Given the description of an element on the screen output the (x, y) to click on. 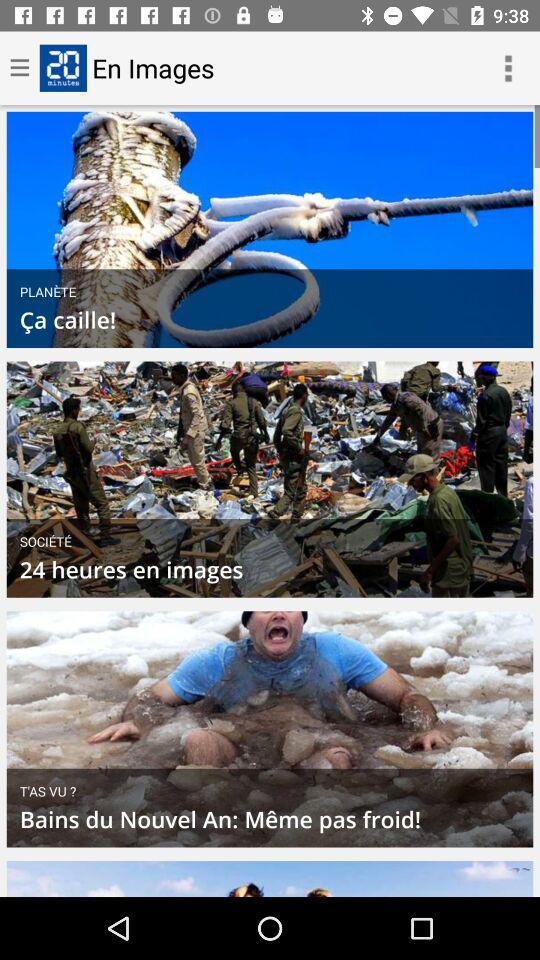
open app next to en images icon (508, 67)
